Given the description of an element on the screen output the (x, y) to click on. 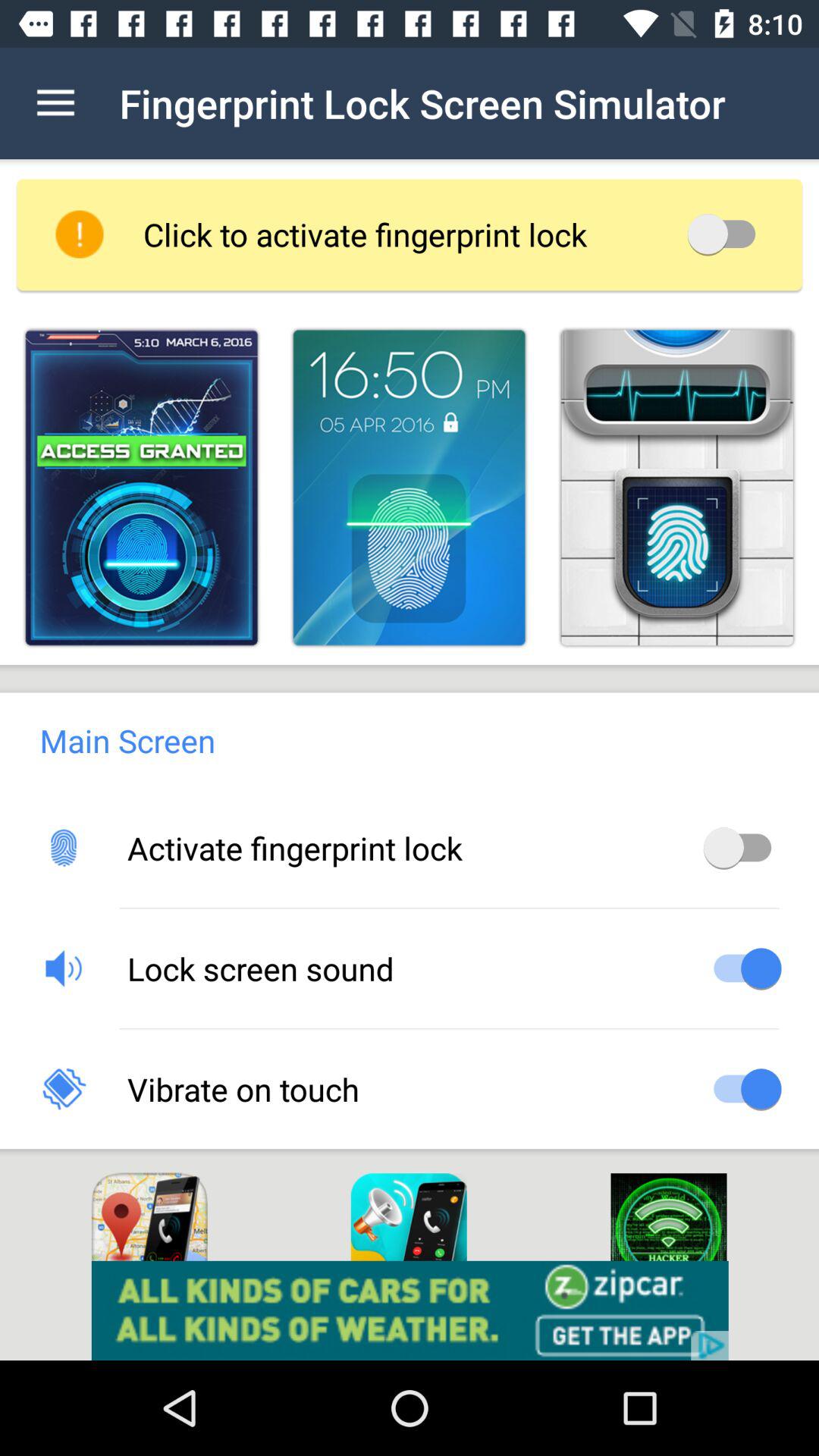
enable fingerprint lock (742, 847)
